Given the description of an element on the screen output the (x, y) to click on. 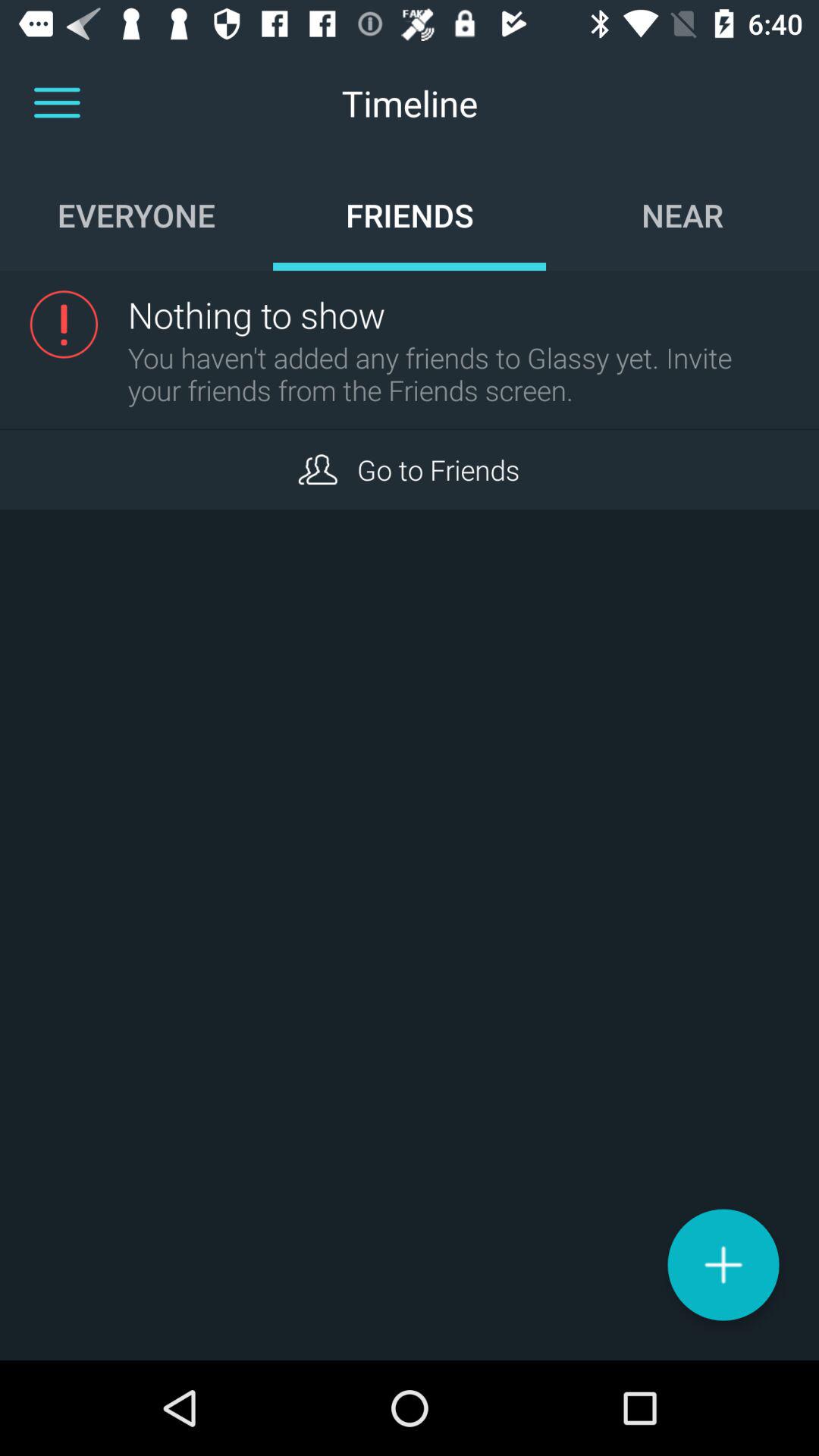
add a new information (723, 1264)
